Given the description of an element on the screen output the (x, y) to click on. 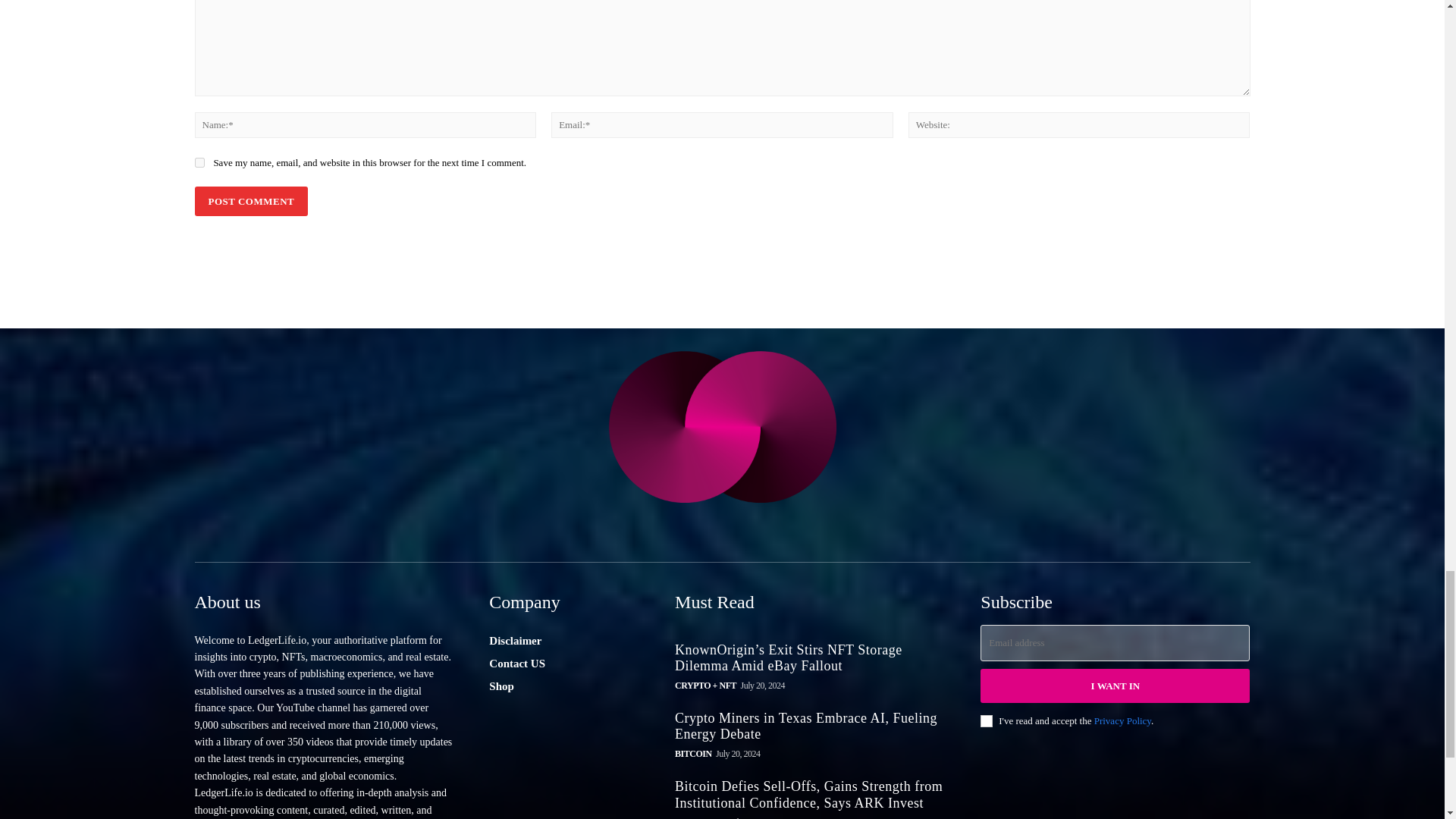
Post Comment (250, 201)
yes (198, 162)
